Given the description of an element on the screen output the (x, y) to click on. 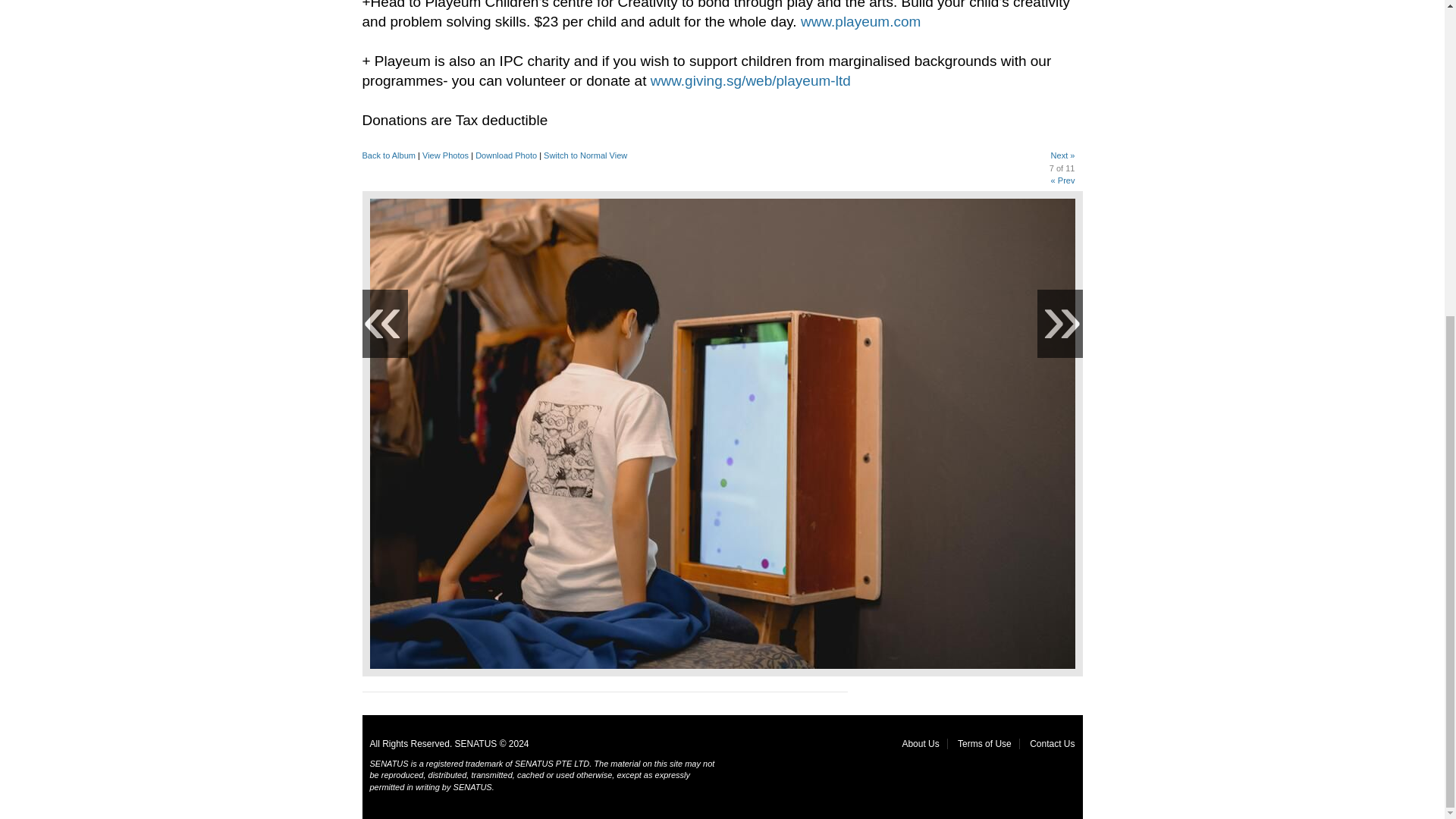
Switch to Normal View (585, 154)
View Photos (445, 154)
Download Photo (507, 154)
www.playeum.com (860, 21)
Back to Album (389, 154)
